Given the description of an element on the screen output the (x, y) to click on. 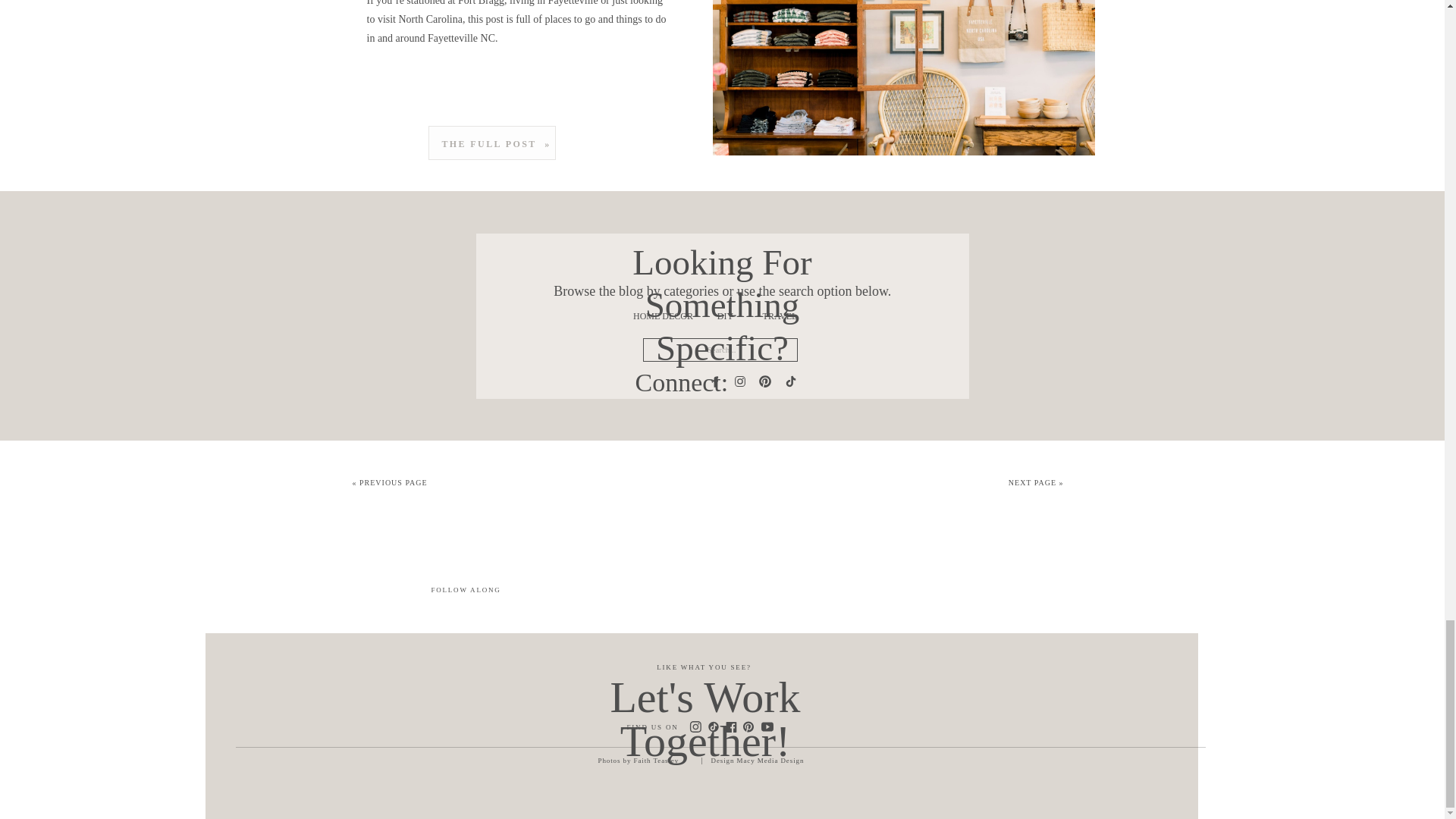
Facebook Copy-color Created with Sketch. (730, 727)
Things to do in and around Fayetteville North Carolina (903, 77)
Instagram-color Created with Sketch. (694, 726)
Things to do in and around Fayetteville North Carolina (491, 142)
